Given the description of an element on the screen output the (x, y) to click on. 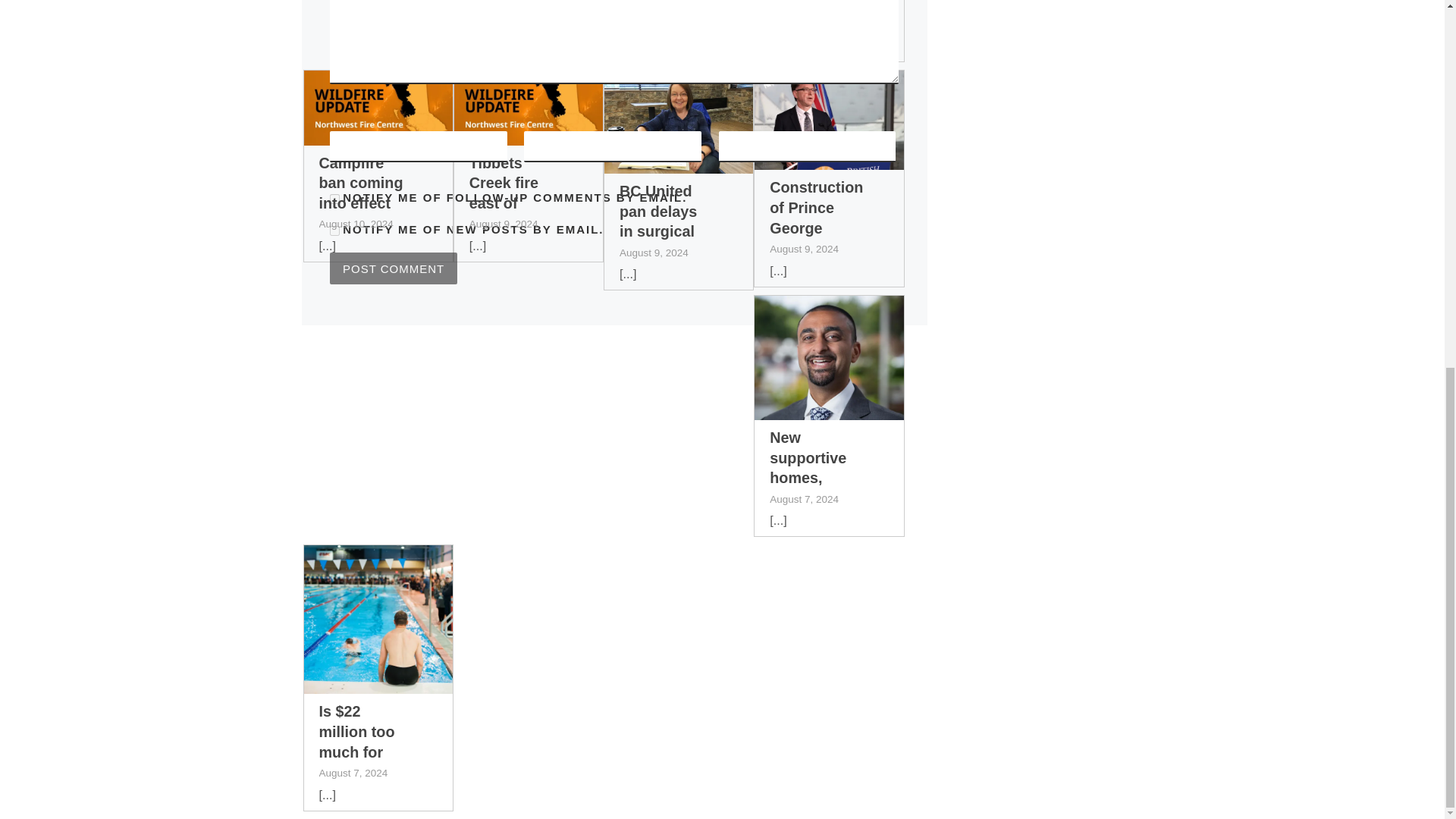
subscribe (334, 198)
subscribe (334, 230)
Post Comment (393, 268)
